Given the description of an element on the screen output the (x, y) to click on. 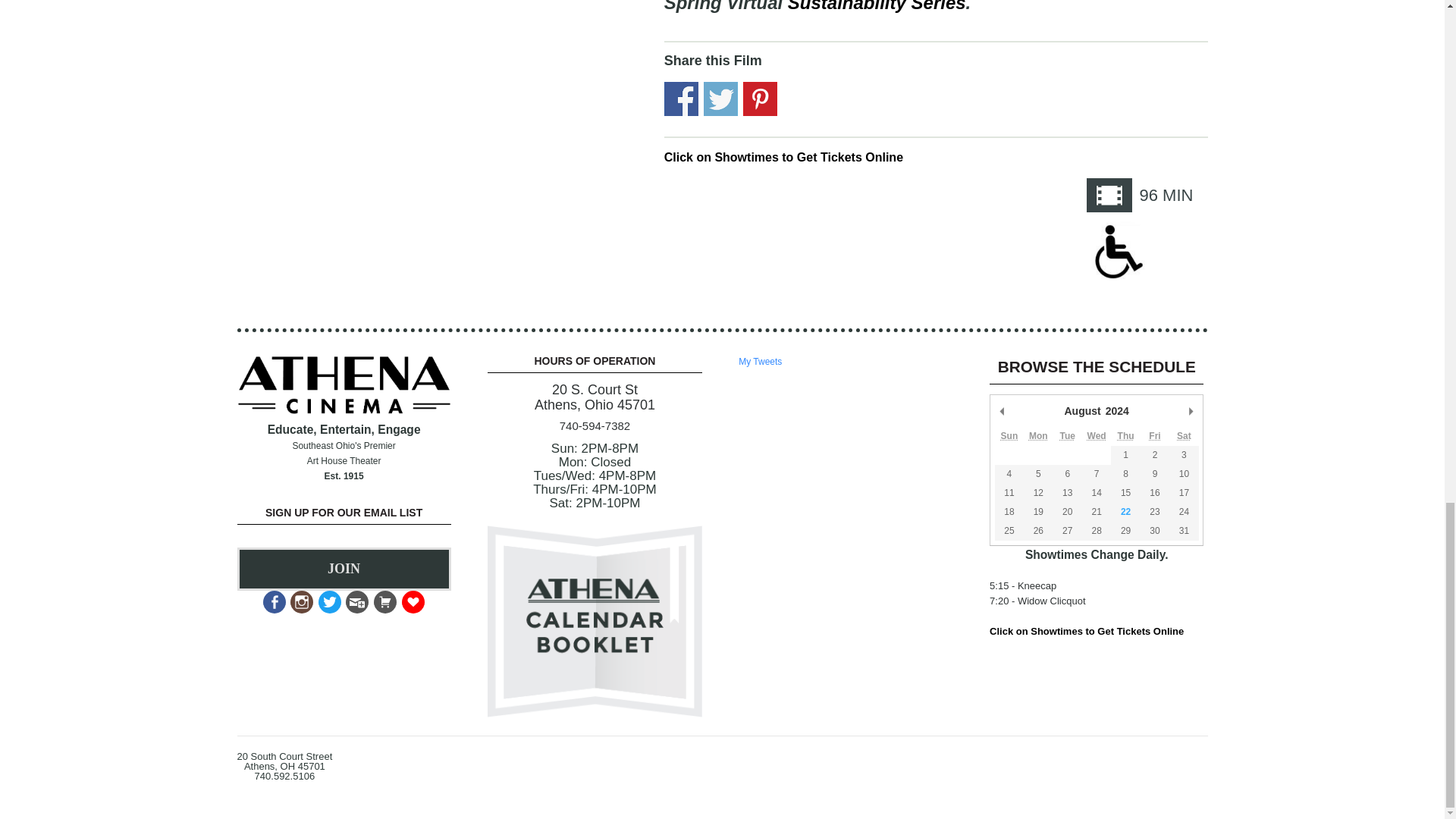
Purchase an Athena Membership (383, 597)
Facebook Athena Cinema (272, 597)
Running Time: 96 min (1112, 197)
This Film is Wheelchair Accessible (1116, 251)
Follow Us on Twitter (327, 597)
Join Our Email List (355, 597)
Find us on Instagram (300, 597)
